Given the description of an element on the screen output the (x, y) to click on. 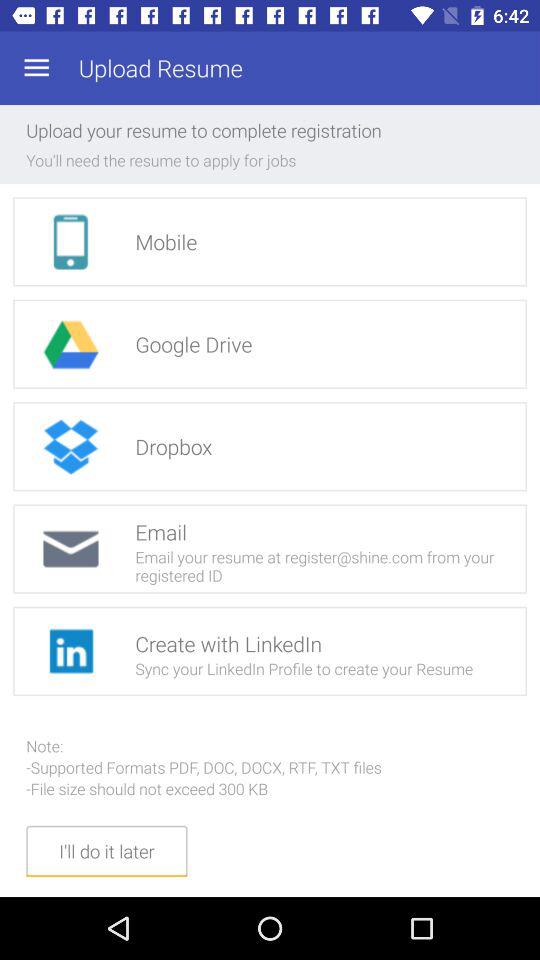
select the dropbox icon (70, 446)
click on the icon below email icon (70, 651)
